Given the description of an element on the screen output the (x, y) to click on. 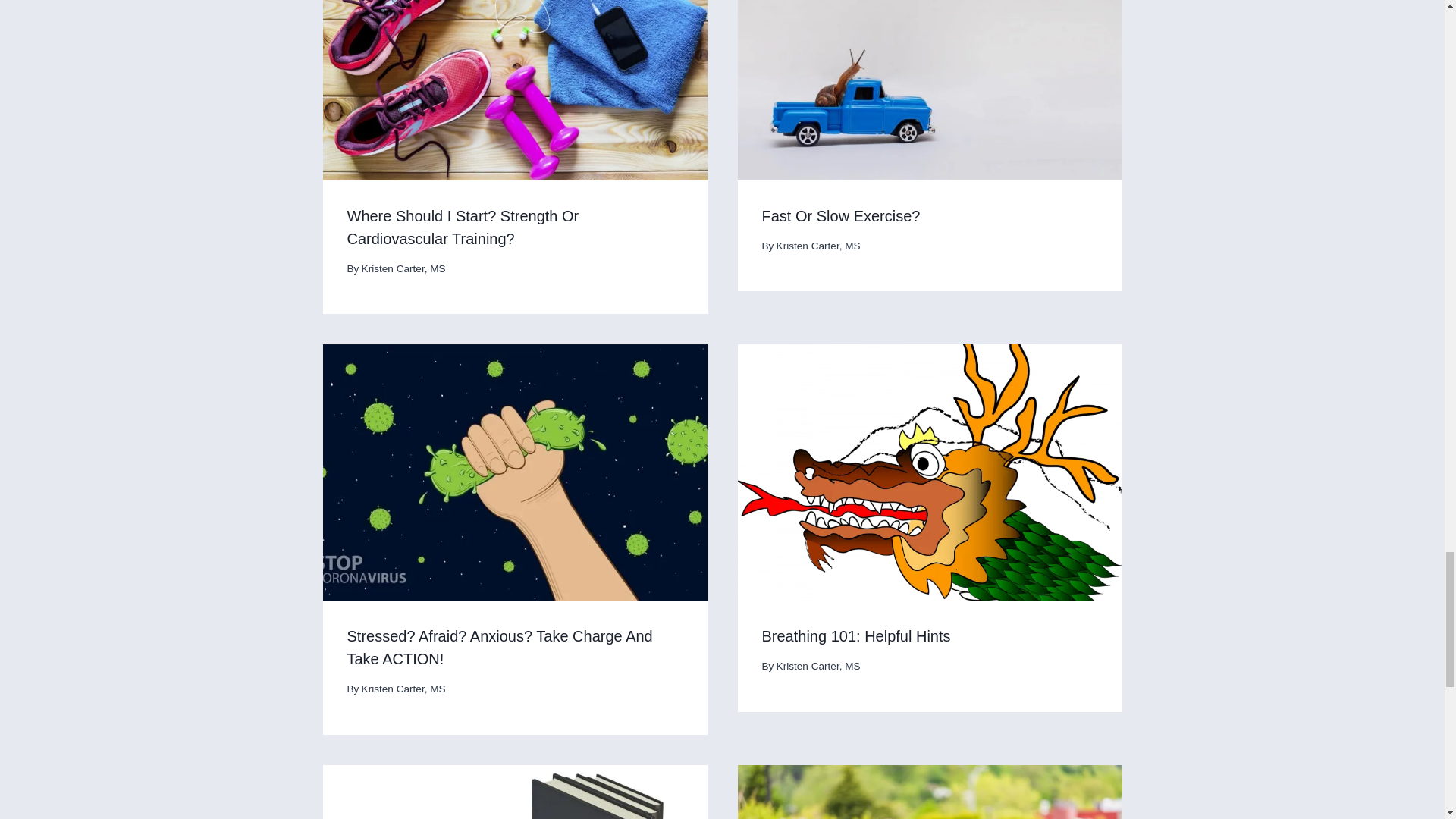
Where Should I Start? Strength Or Cardiovascular Training? (463, 227)
Stressed? Afraid? Anxious? Take Charge And Take ACTION! (499, 647)
Fast Or Slow Exercise? (840, 216)
Breathing 101: Helpful Hints (855, 636)
